Given the description of an element on the screen output the (x, y) to click on. 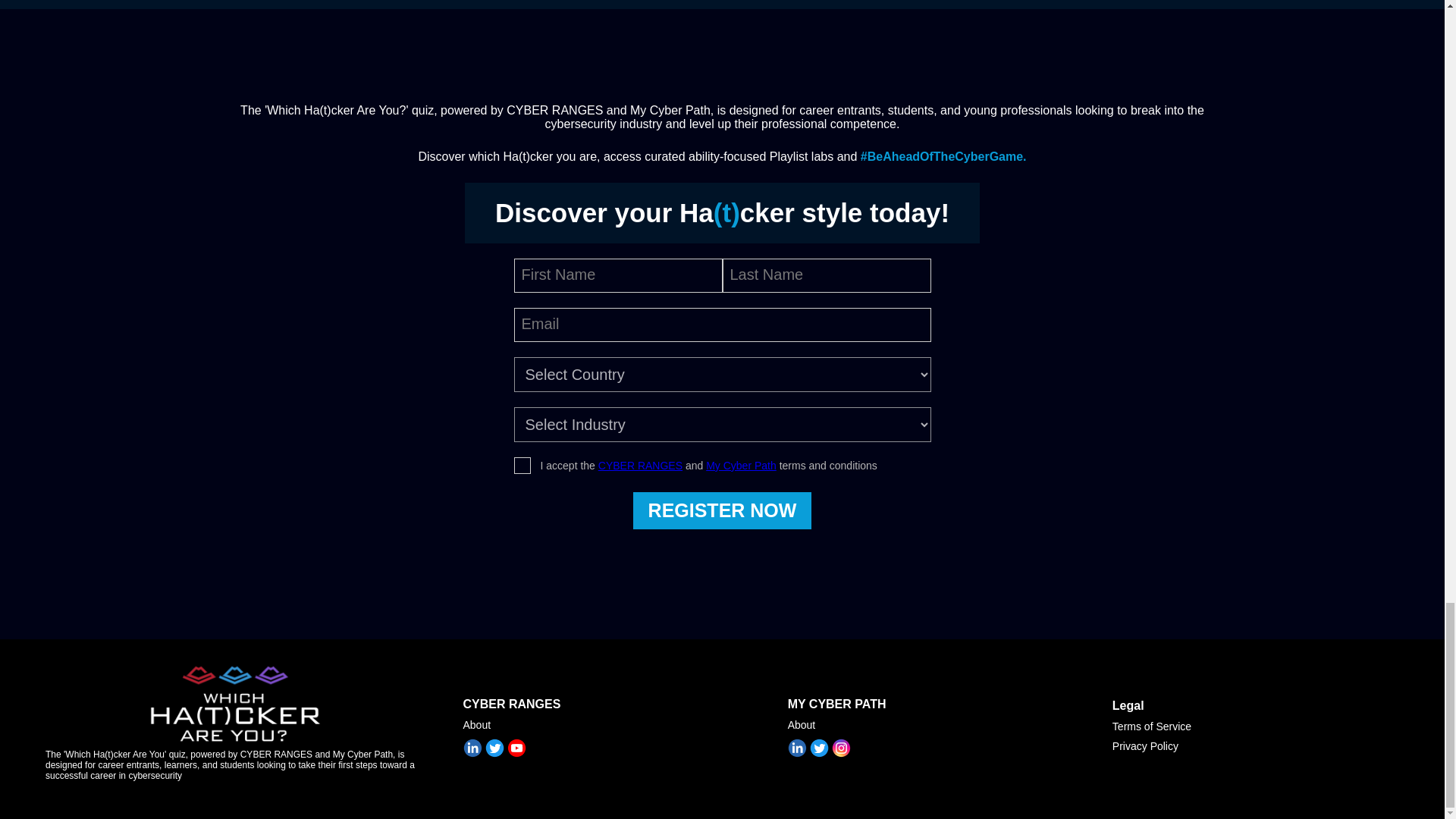
on (522, 465)
Terms of Service (1255, 726)
Privacy Policy (1255, 746)
About (930, 725)
About (606, 725)
CYBER RANGES (640, 465)
REGISTER NOW (722, 510)
My Cyber Path (741, 465)
